Given the description of an element on the screen output the (x, y) to click on. 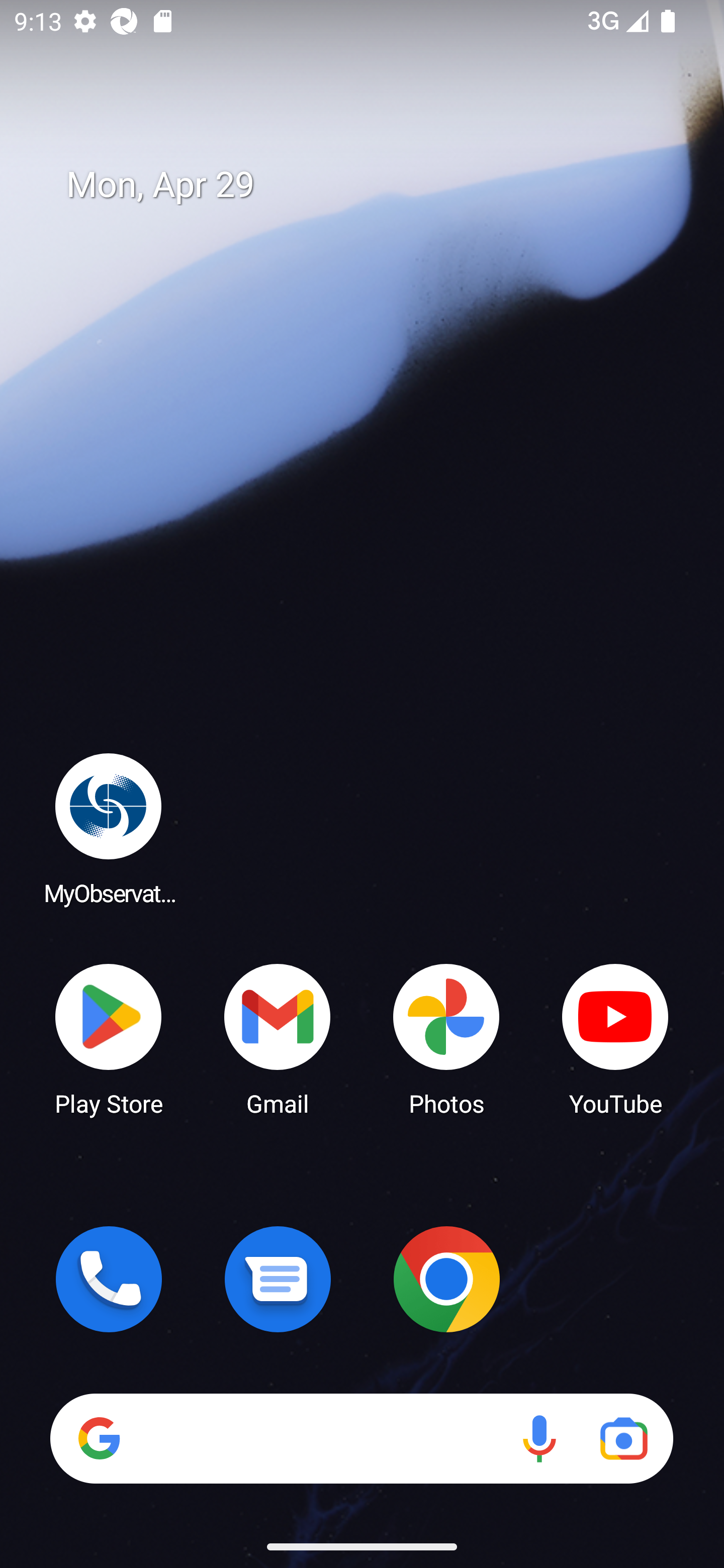
Mon, Apr 29 (375, 184)
MyObservatory (108, 828)
Play Store (108, 1038)
Gmail (277, 1038)
Photos (445, 1038)
YouTube (615, 1038)
Phone (108, 1279)
Messages (277, 1279)
Chrome (446, 1279)
Voice search (539, 1438)
Google Lens (623, 1438)
